Given the description of an element on the screen output the (x, y) to click on. 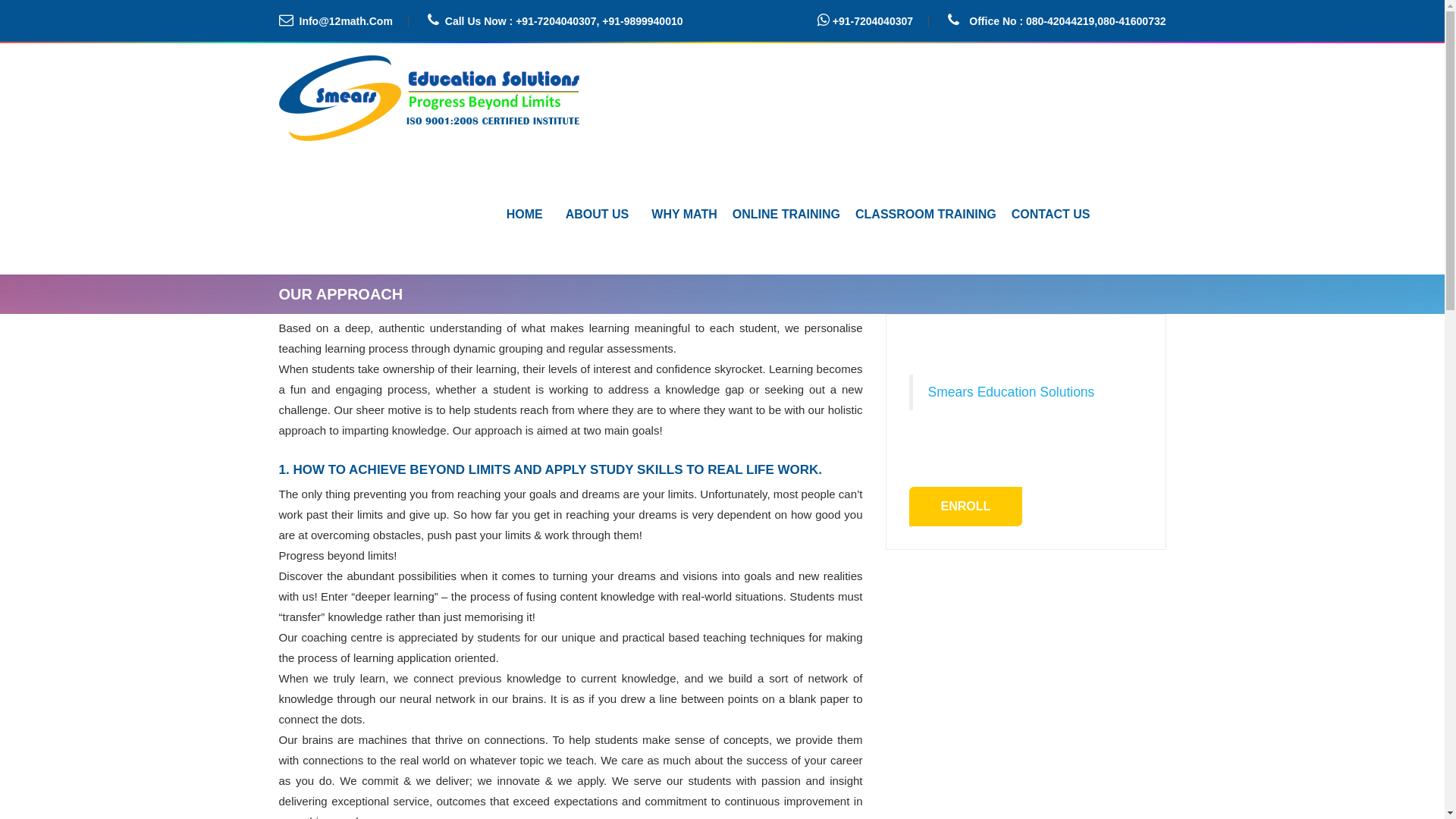
Smears Education Solutions Element type: text (1011, 391)
ONLINE TRAINING Element type: text (786, 214)
ABOUT US Element type: text (597, 214)
CONTACT US Element type: text (1050, 214)
Office No : 080-42044219,080-41600732 Element type: text (1067, 21)
ENROLL Element type: text (965, 506)
HOME Element type: text (524, 214)
CLASSROOM TRAINING Element type: text (925, 214)
Call Us Now : +91-7204040307, +91-9899940010 Element type: text (564, 21)
Info@12math.Com Element type: text (352, 21)
WHY MATH Element type: text (684, 214)
+91-7204040307 Element type: text (878, 21)
